Given the description of an element on the screen output the (x, y) to click on. 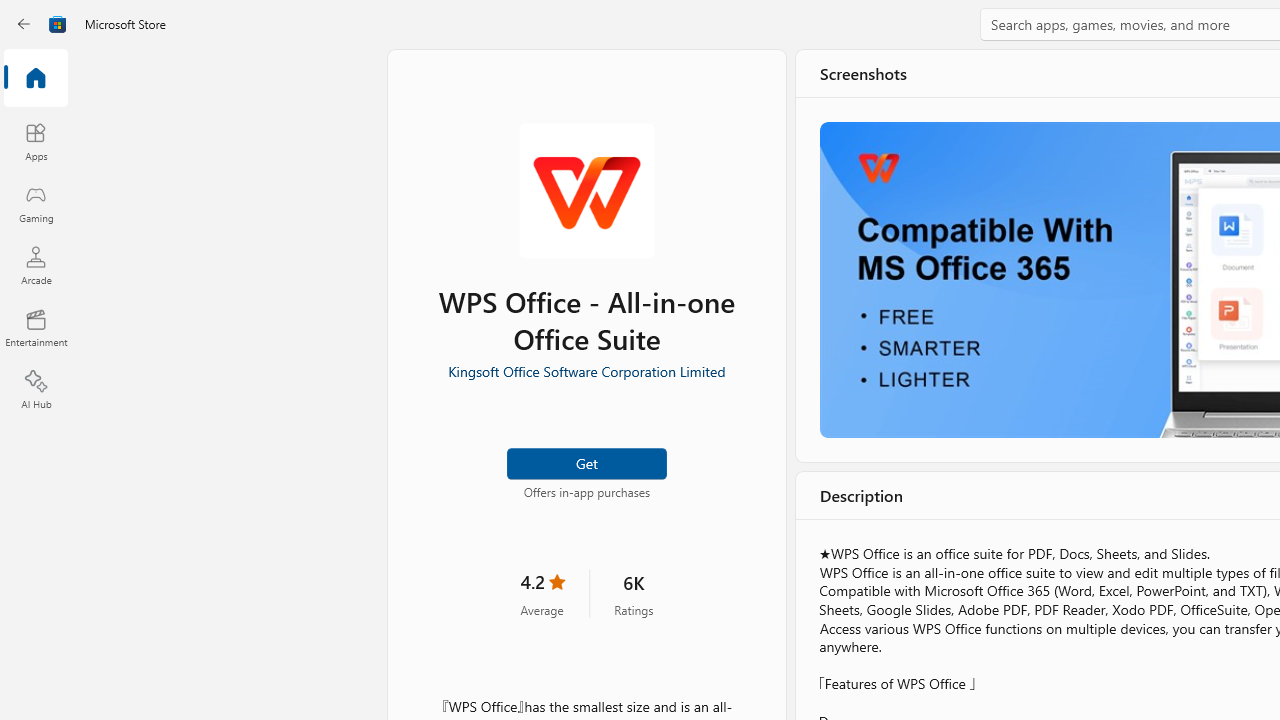
Entertainment (35, 327)
Gaming (35, 203)
Class: Image (58, 24)
Get (586, 462)
Arcade (35, 265)
Home (35, 79)
Apps (35, 141)
AI Hub (35, 390)
Kingsoft Office Software Corporation Limited (586, 369)
4.2 stars. Click to skip to ratings and reviews (542, 592)
Back (24, 24)
